Given the description of an element on the screen output the (x, y) to click on. 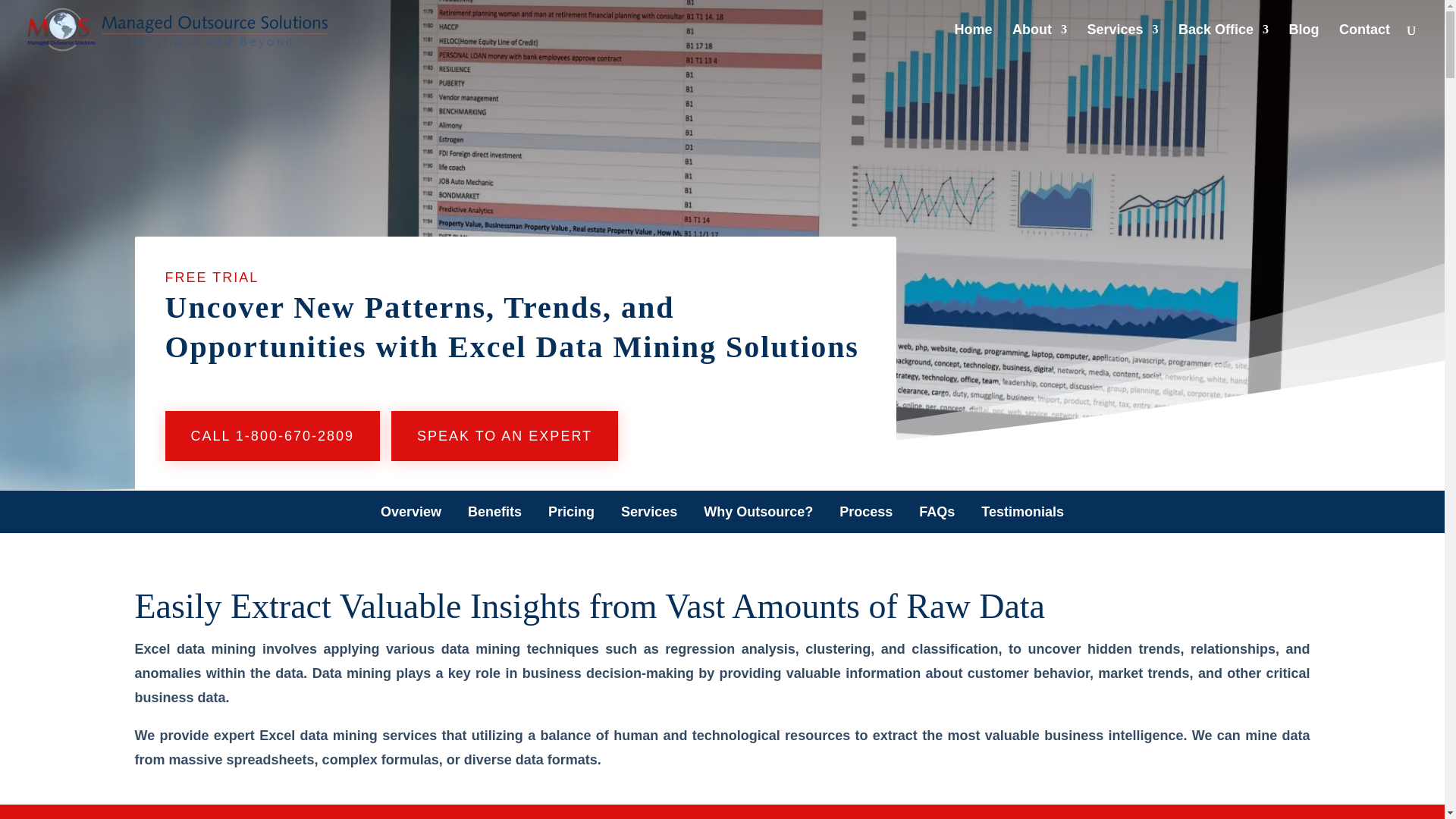
Contact (1364, 41)
Benefits (494, 511)
Services (1122, 41)
About (1039, 41)
FAQs (936, 511)
Pricing (571, 511)
Process (866, 511)
Why Outsource? (757, 511)
Back Office (1222, 41)
FREE TRIAL (212, 277)
